Given the description of an element on the screen output the (x, y) to click on. 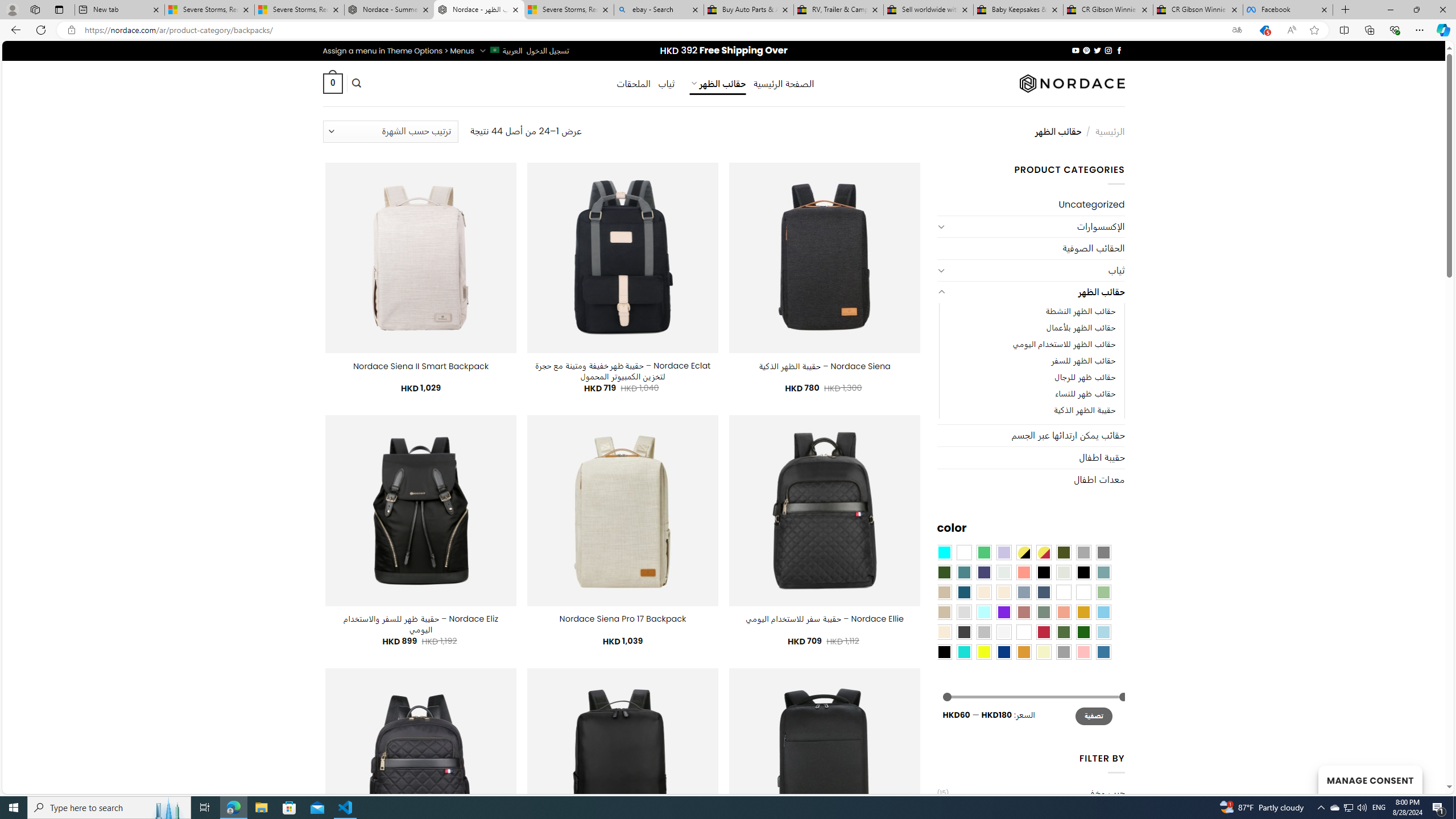
Kelp (1063, 591)
Emerald Green (983, 551)
Forest (944, 572)
Cream (1003, 591)
